Given the description of an element on the screen output the (x, y) to click on. 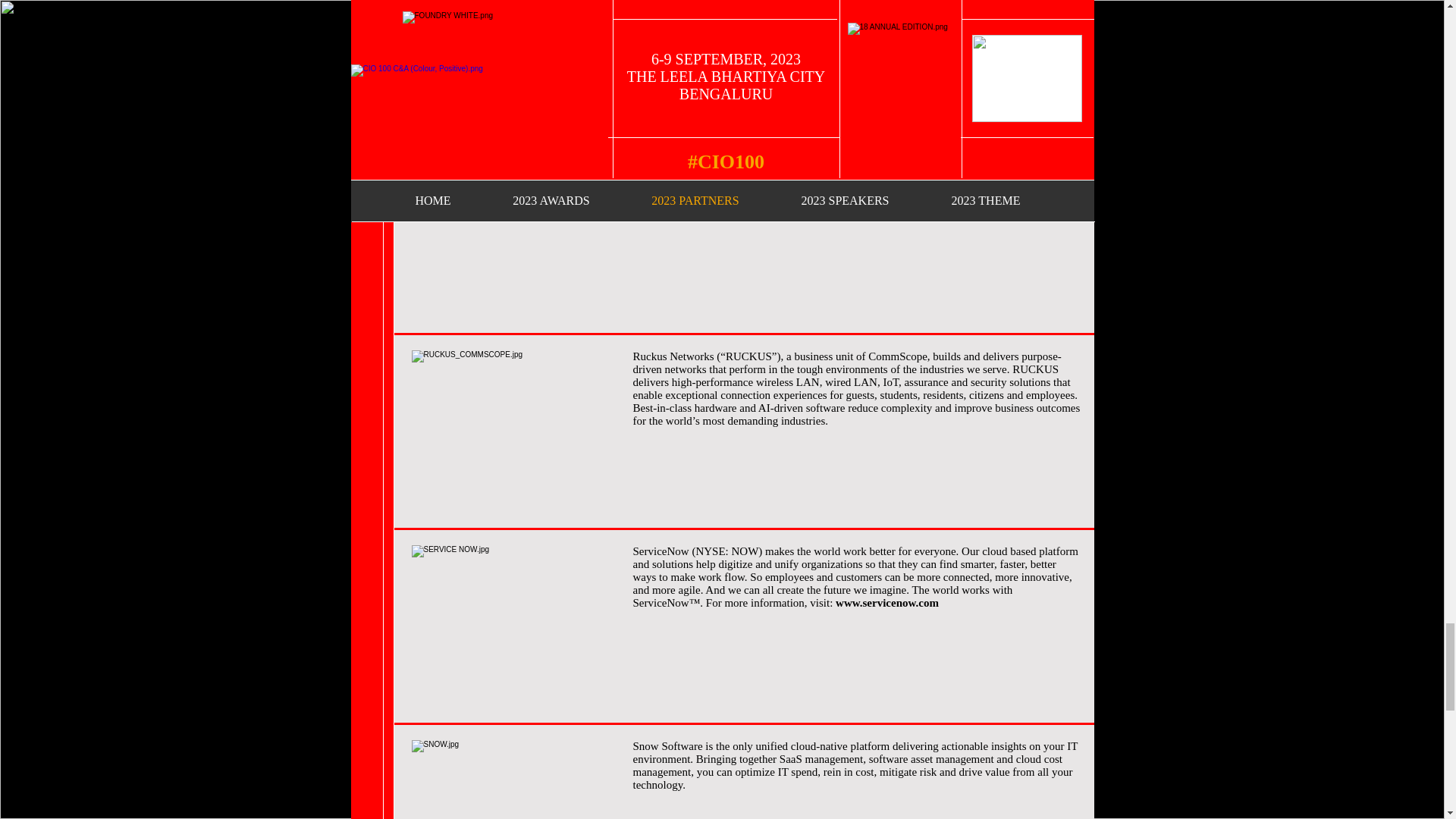
www.servicenow.com (887, 603)
